Given the description of an element on the screen output the (x, y) to click on. 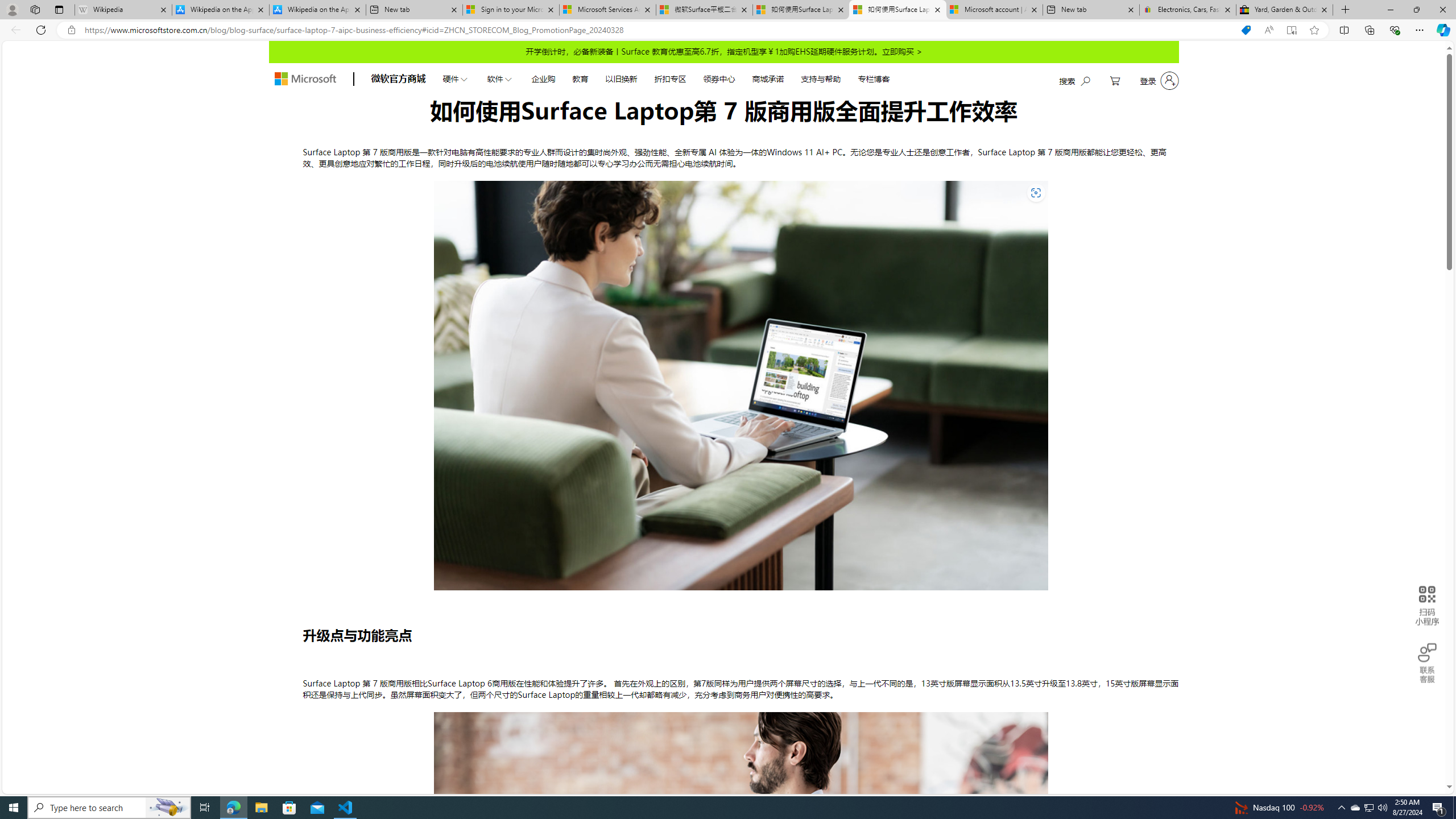
My Cart (1115, 80)
Shopping in Microsoft Edge (1245, 29)
